Given the description of an element on the screen output the (x, y) to click on. 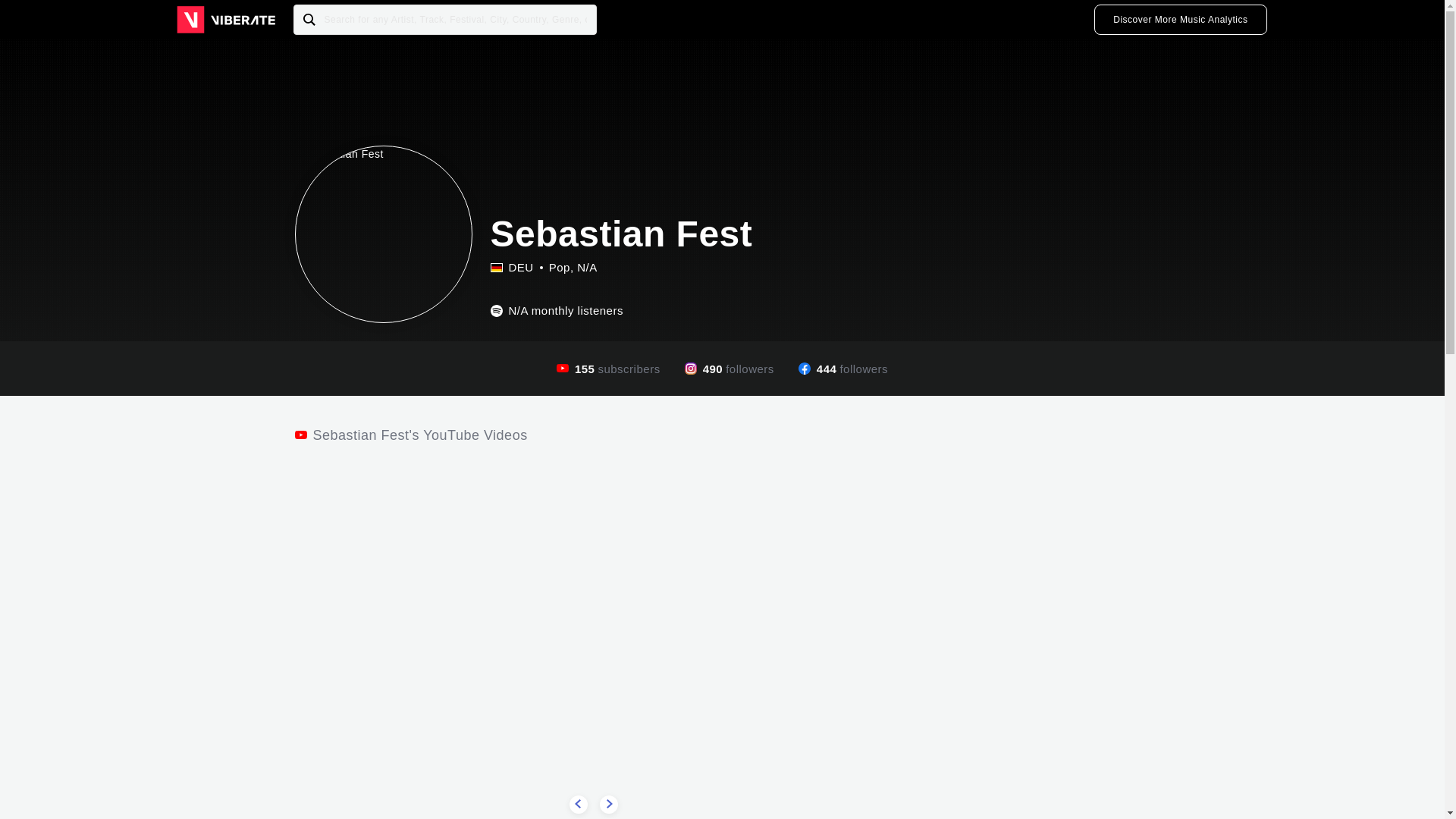
DEU (495, 266)
Discover More Music Analytics (1180, 19)
Viberate (225, 19)
Germany (510, 267)
Sign up (1180, 19)
